Given the description of an element on the screen output the (x, y) to click on. 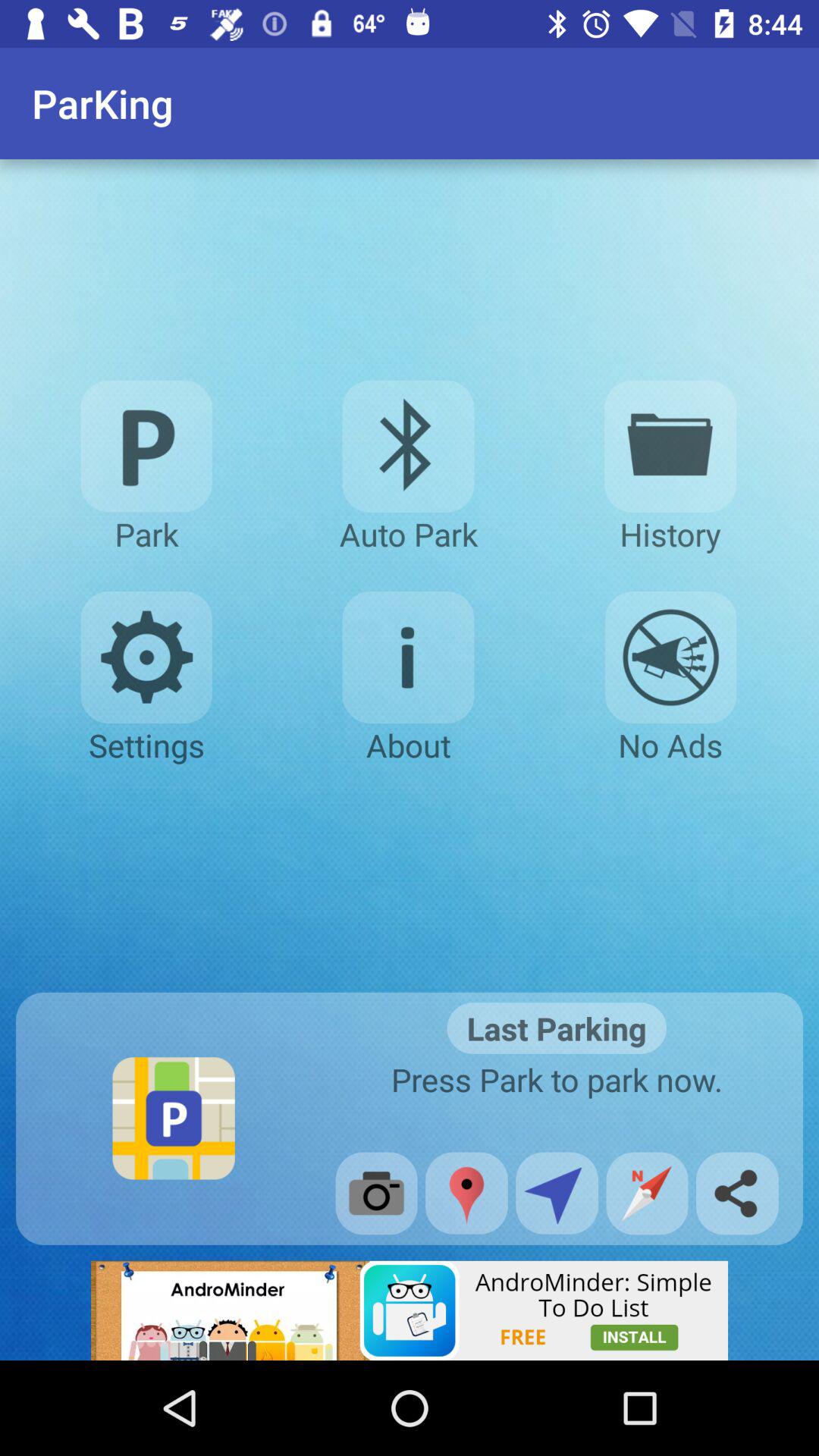
no advertisements (670, 657)
